Given the description of an element on the screen output the (x, y) to click on. 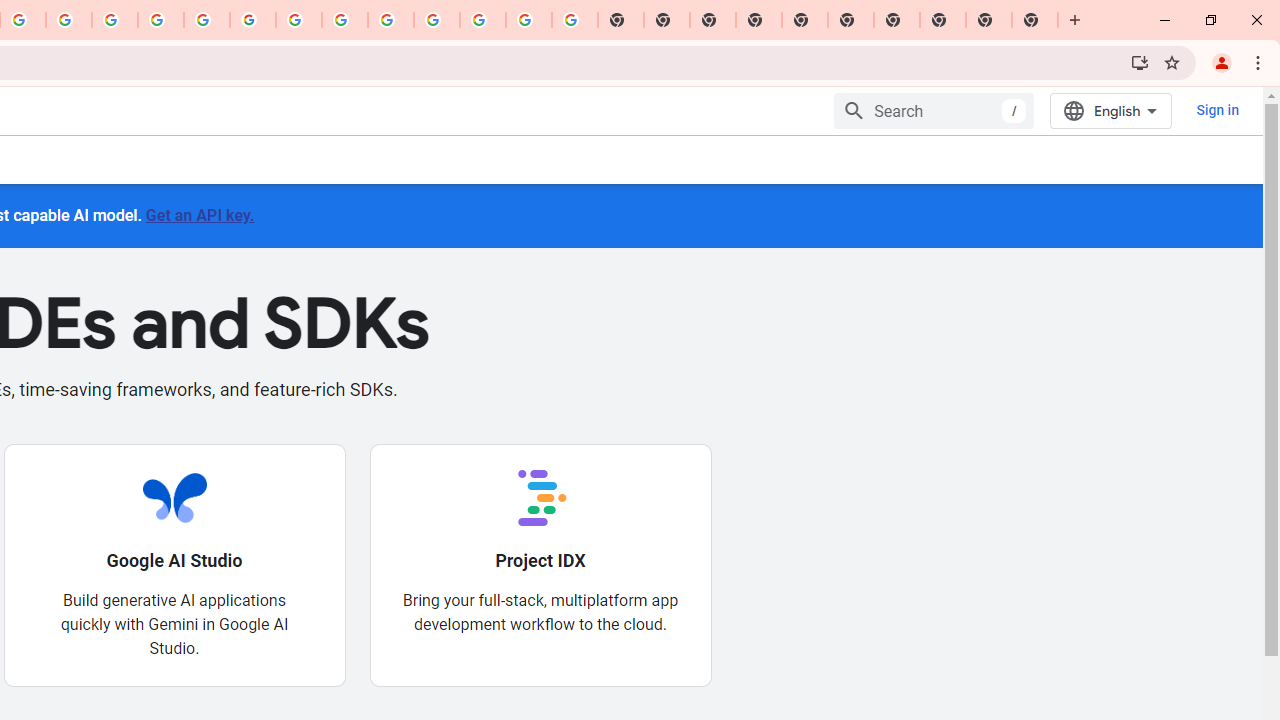
Project IDX logo (540, 497)
Google Images (574, 20)
Get an API key. (199, 214)
English (1110, 110)
YouTube (299, 20)
New Tab (759, 20)
